Given the description of an element on the screen output the (x, y) to click on. 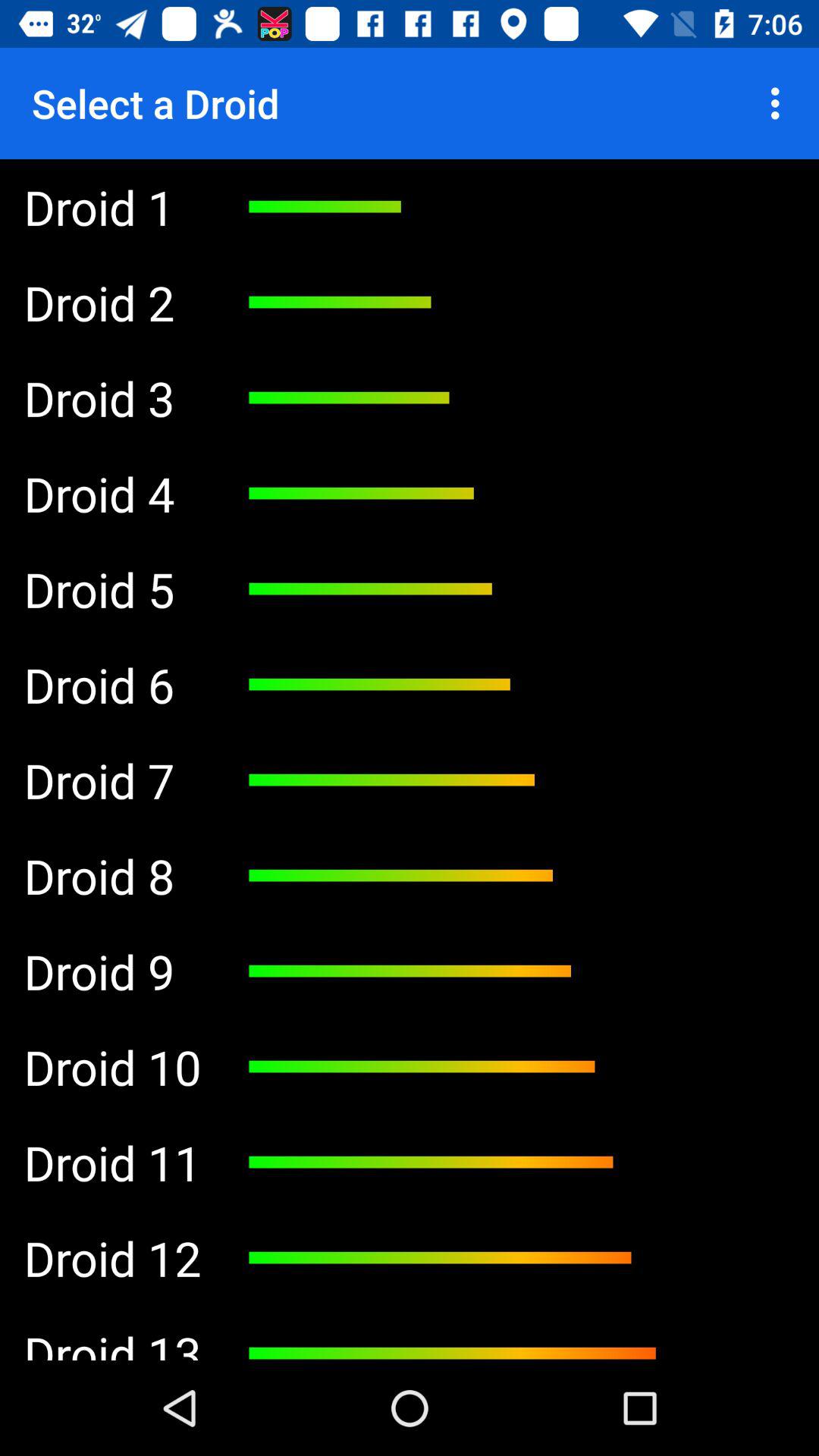
launch app below the droid 20 app (112, 302)
